Given the description of an element on the screen output the (x, y) to click on. 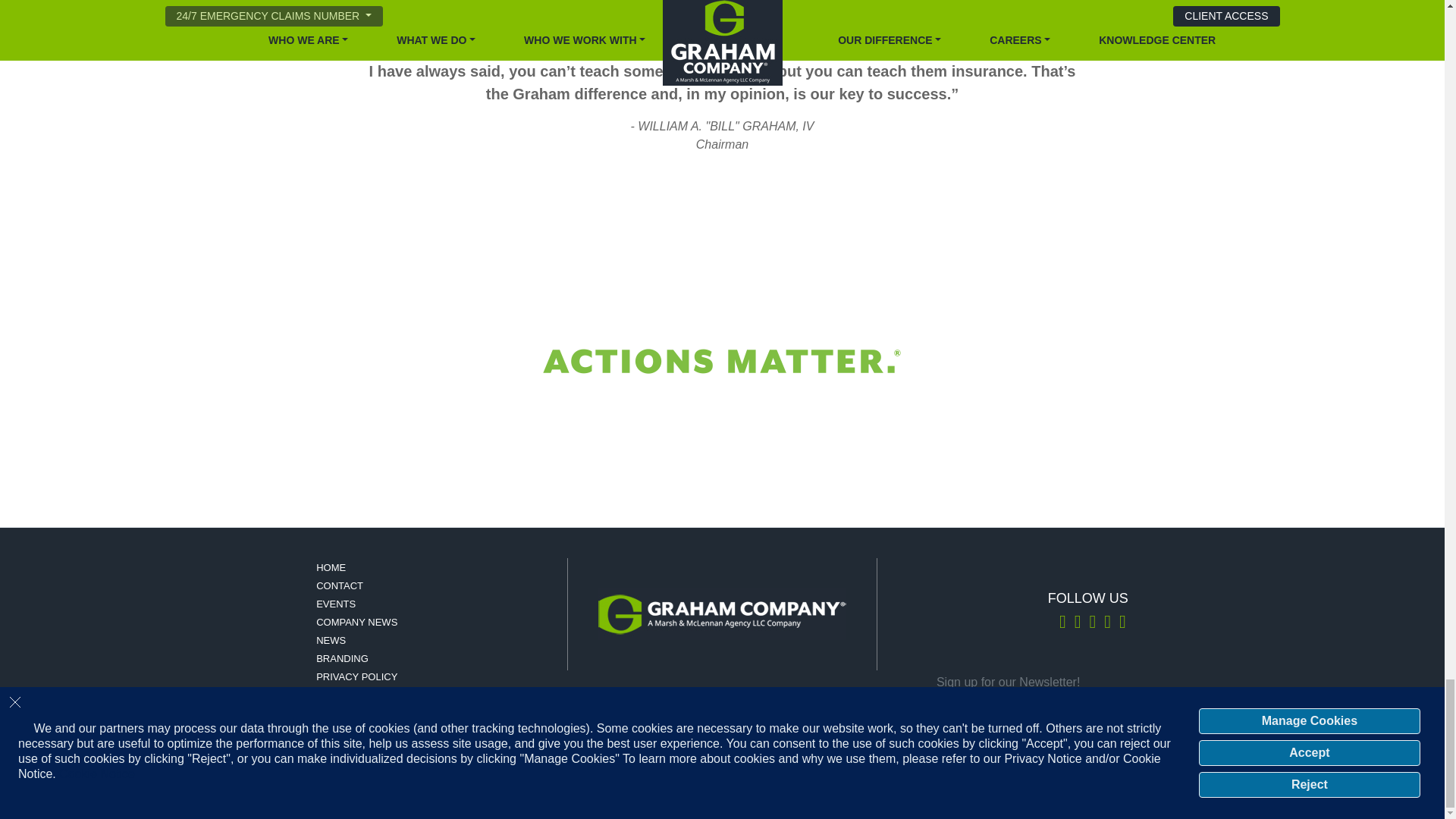
Facebook (1107, 624)
Twitter (1062, 624)
Instagram (1091, 624)
Youtube (1122, 624)
LinkedIn (1077, 624)
